Given the description of an element on the screen output the (x, y) to click on. 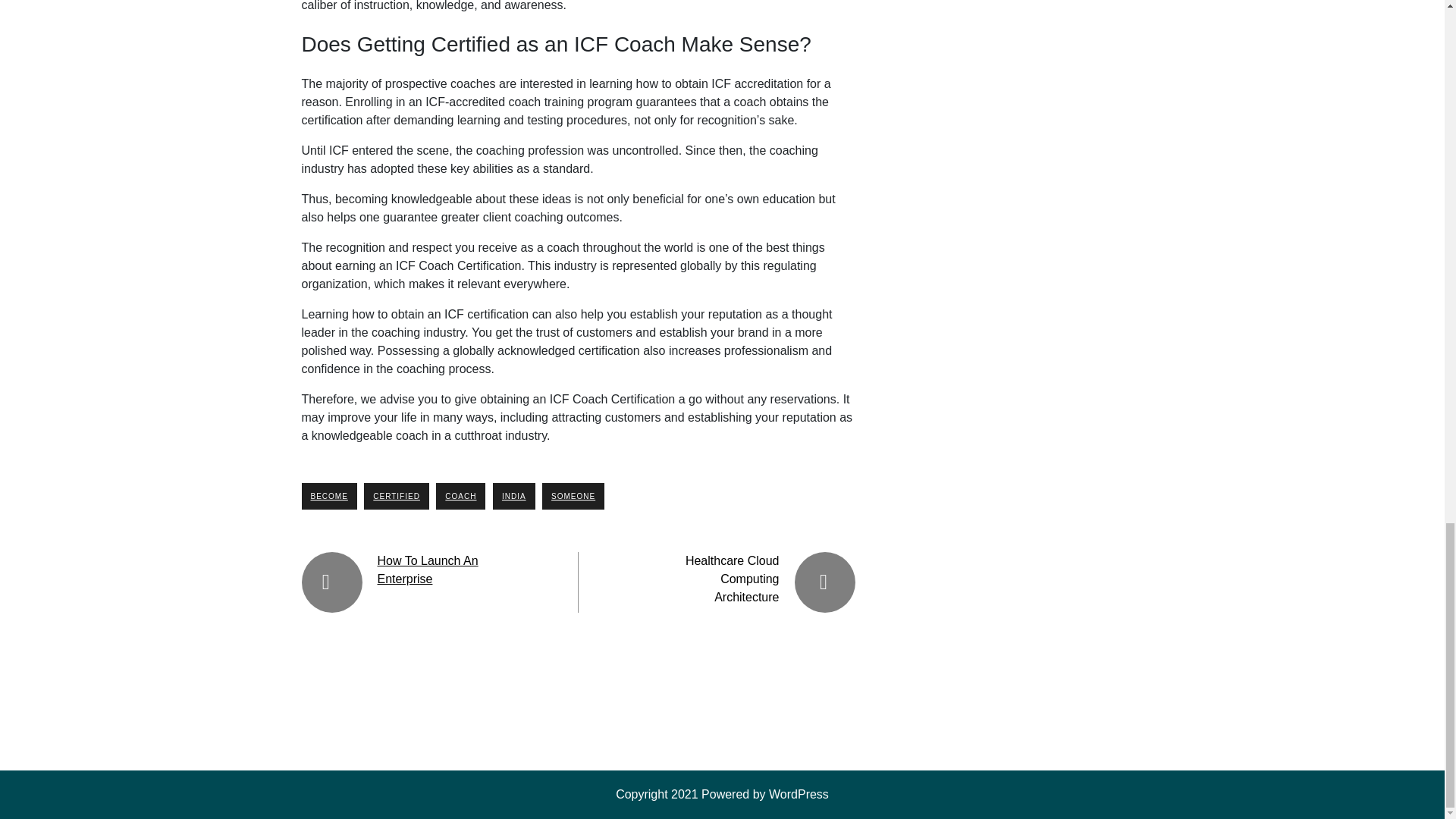
How To Launch An Enterprise (428, 569)
BECOME (328, 496)
COACH (459, 496)
CERTIFIED (396, 496)
SOMEONE (572, 496)
INDIA (514, 496)
Healthcare Cloud Computing Architecture (731, 578)
